Given the description of an element on the screen output the (x, y) to click on. 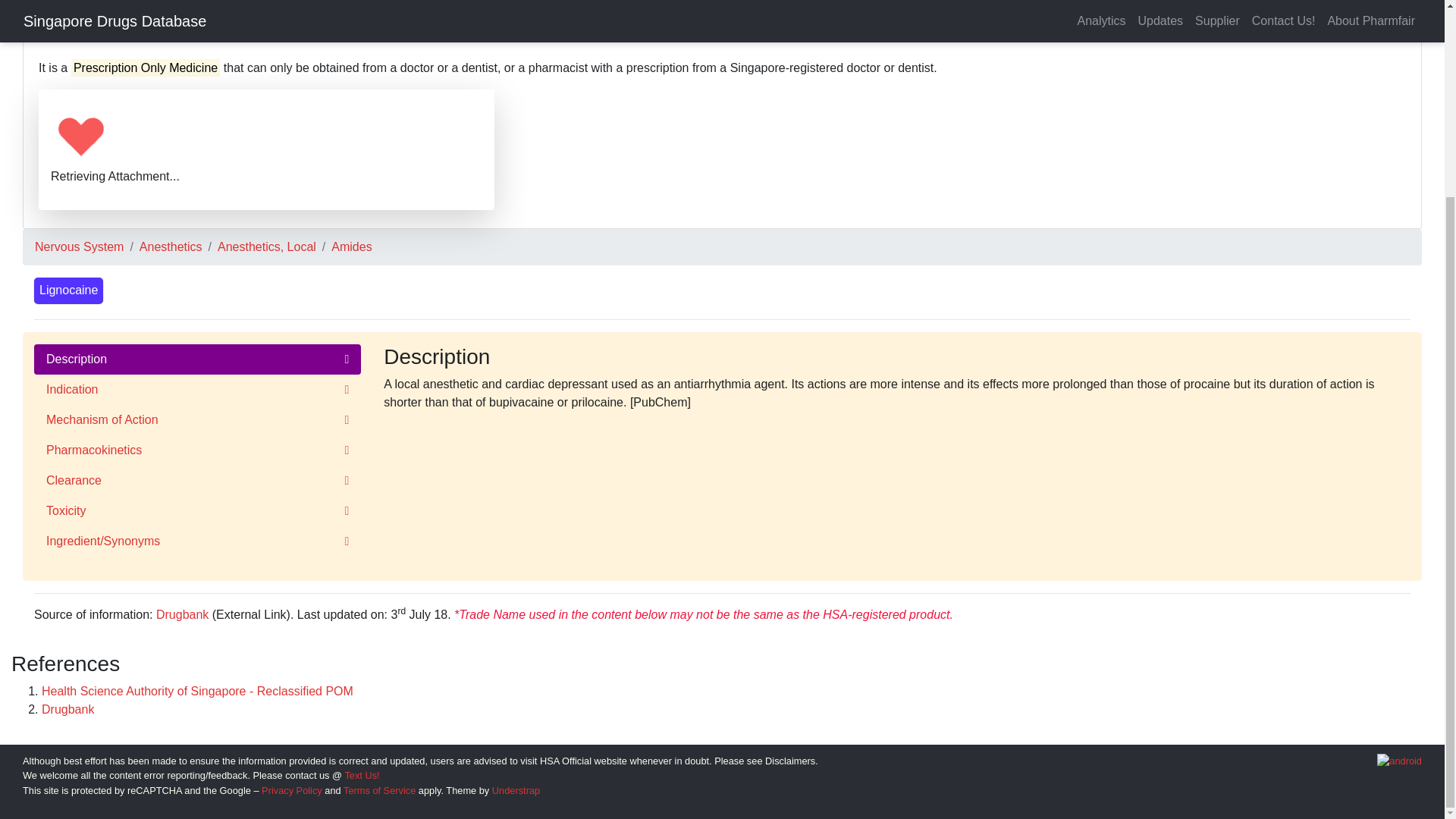
Mechanism of Action (197, 419)
Text Us! (360, 775)
Clearance (197, 481)
Privacy Policy (291, 790)
Drugbank (181, 614)
Drugbank (68, 708)
Understrap (516, 790)
Toxicity (197, 511)
Description (197, 358)
Health Science Authority of Singapore - Reclassified POM (197, 690)
Pharmacokinetics (197, 450)
google-play (1399, 760)
Anesthetics (170, 246)
Terms of Service (378, 790)
Indication (197, 389)
